Given the description of an element on the screen output the (x, y) to click on. 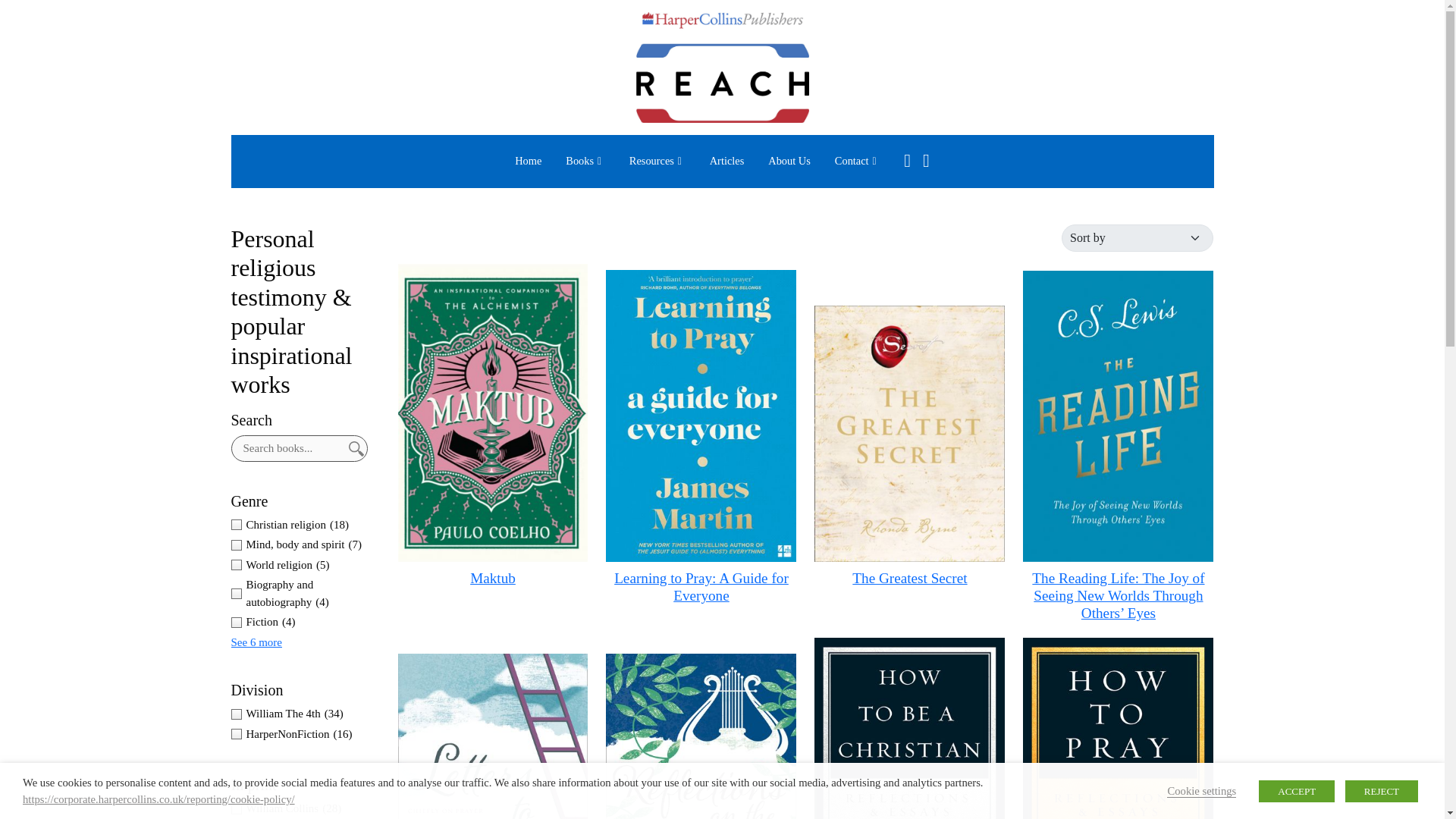
See 6 more (255, 642)
Learning to Pray: A Guide for Everyone (701, 586)
About Us (788, 161)
Resources (657, 161)
Maktub (492, 578)
Contact (856, 161)
Books (585, 161)
Home (527, 161)
Articles (727, 161)
